Given the description of an element on the screen output the (x, y) to click on. 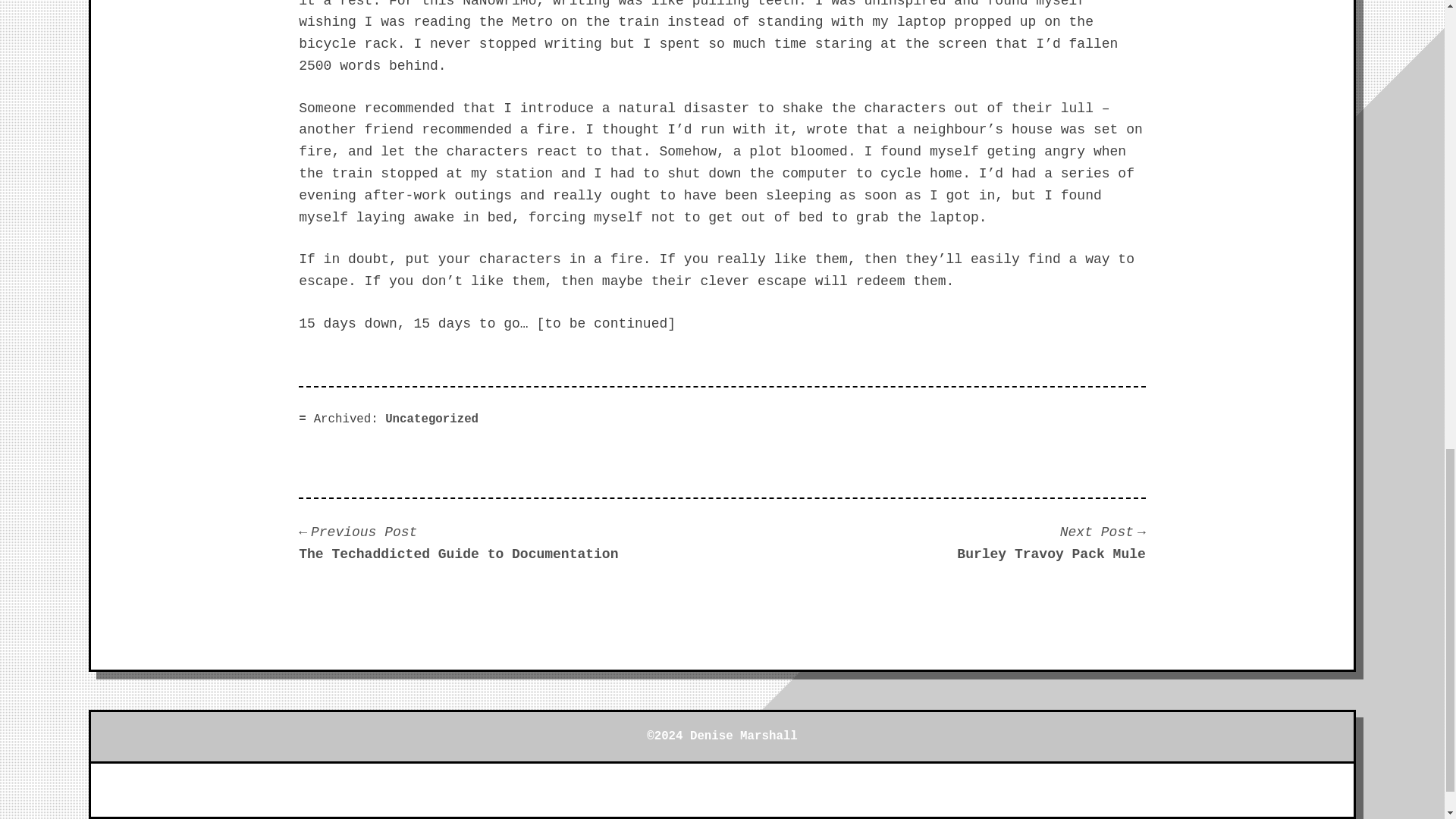
Uncategorized (432, 418)
